Given the description of an element on the screen output the (x, y) to click on. 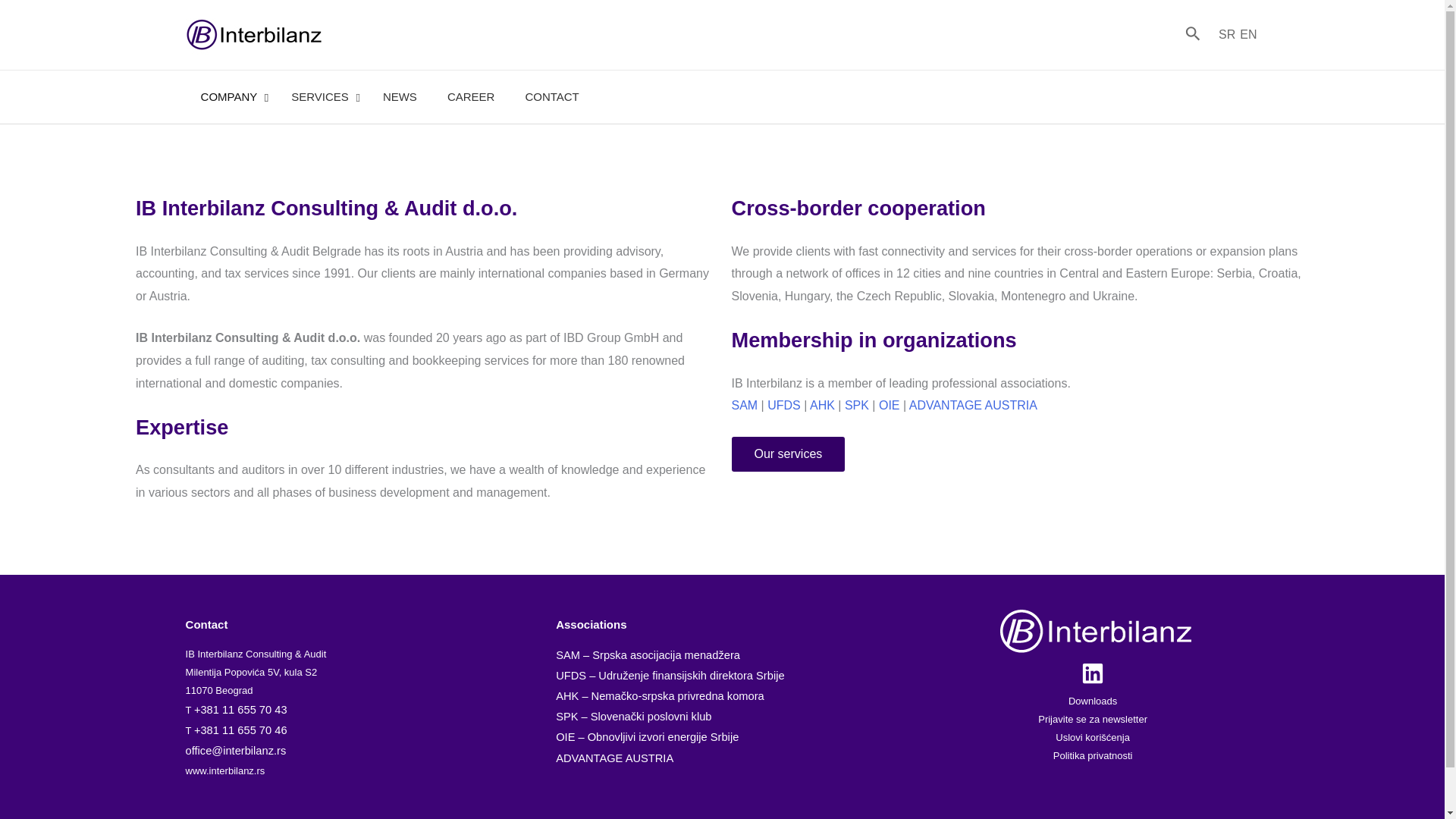
SERVICES (390, 96)
COMPANY (322, 96)
NEWS (231, 96)
